Given the description of an element on the screen output the (x, y) to click on. 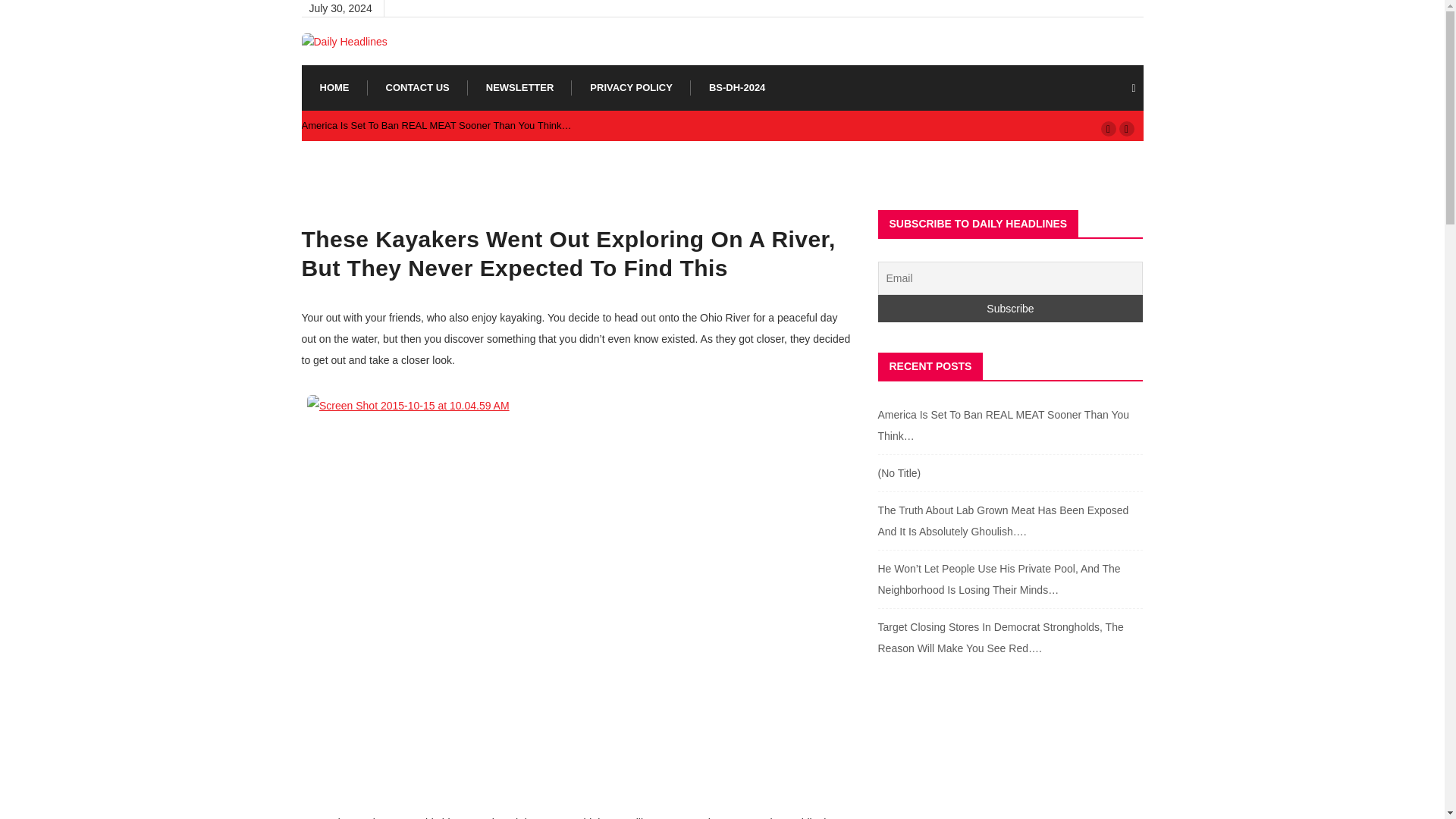
Subscribe (1009, 308)
Subscribe (1009, 308)
NEWSLETTER (520, 87)
BS-DH-2024 (737, 87)
PRIVACY POLICY (630, 87)
CONTACT US (416, 87)
